Given the description of an element on the screen output the (x, y) to click on. 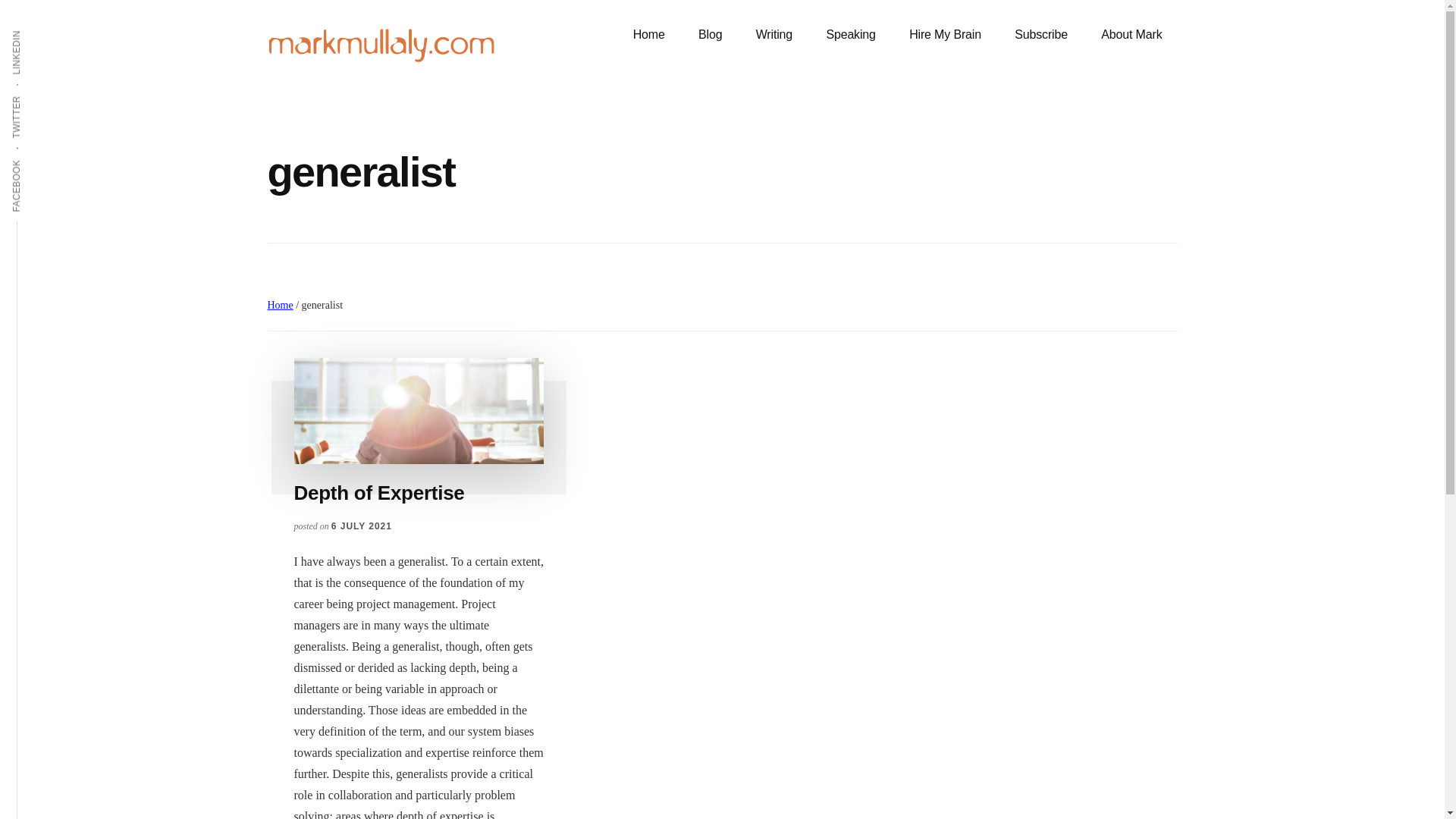
FACEBOOK (44, 158)
Speaking (849, 34)
Blog (709, 34)
Home (648, 34)
LINKEDIN (39, 28)
Writing (774, 34)
TWITTER (38, 94)
Hire My Brain (944, 34)
Subscribe (1040, 34)
